Given the description of an element on the screen output the (x, y) to click on. 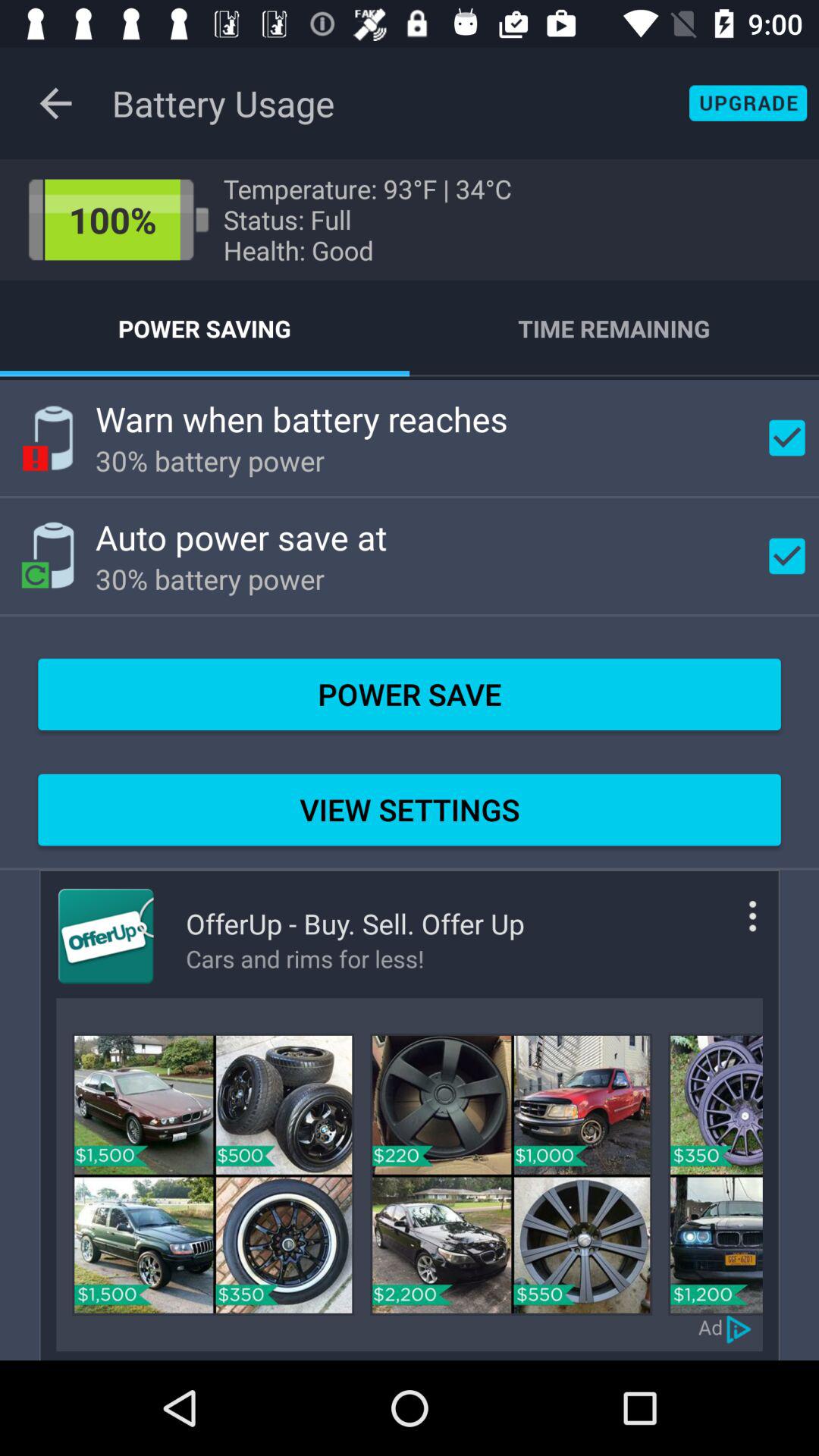
launch item below the power save item (409, 809)
